Given the description of an element on the screen output the (x, y) to click on. 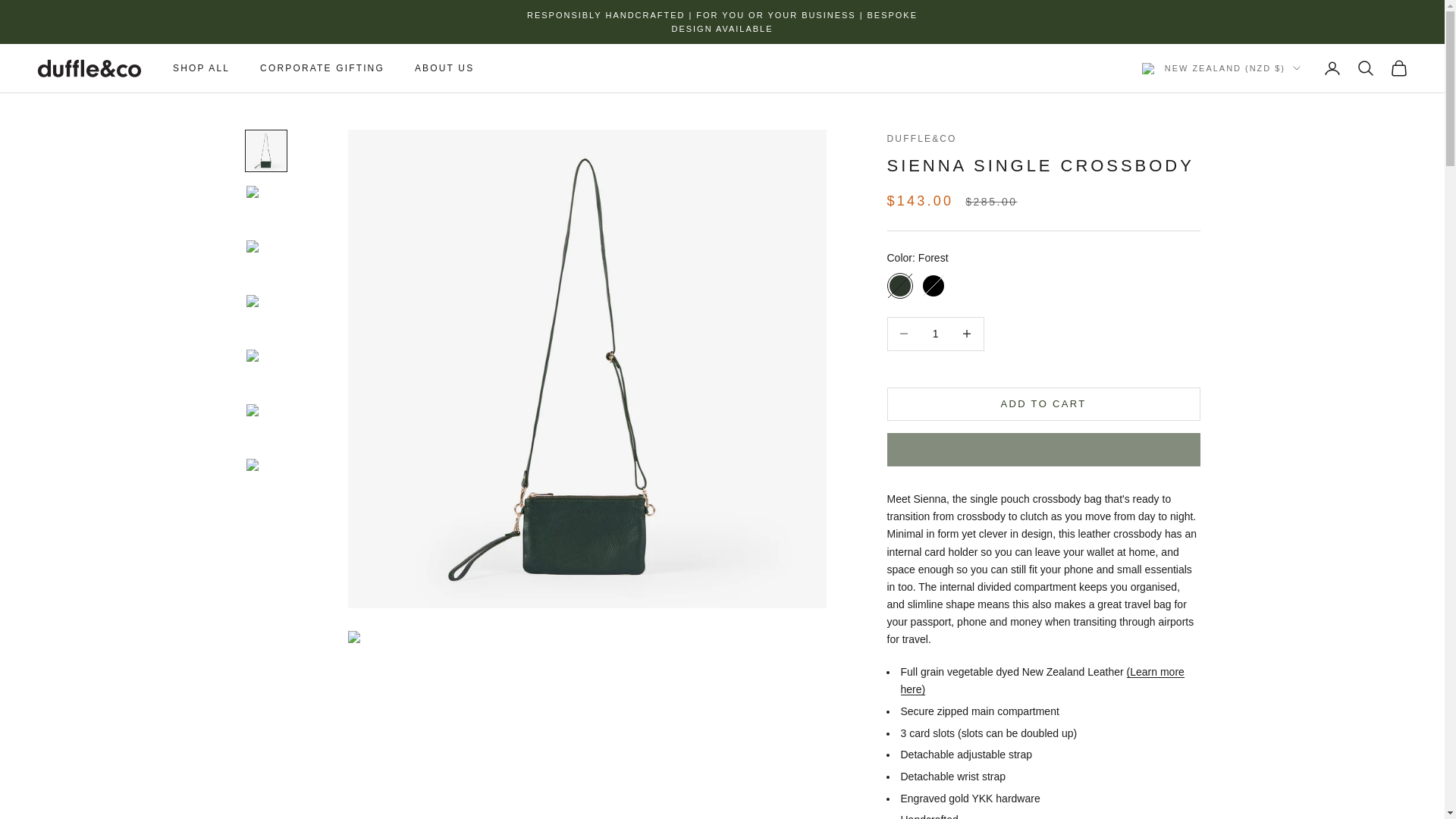
1 (935, 333)
CORPORATE GIFTING (322, 68)
